Given the description of an element on the screen output the (x, y) to click on. 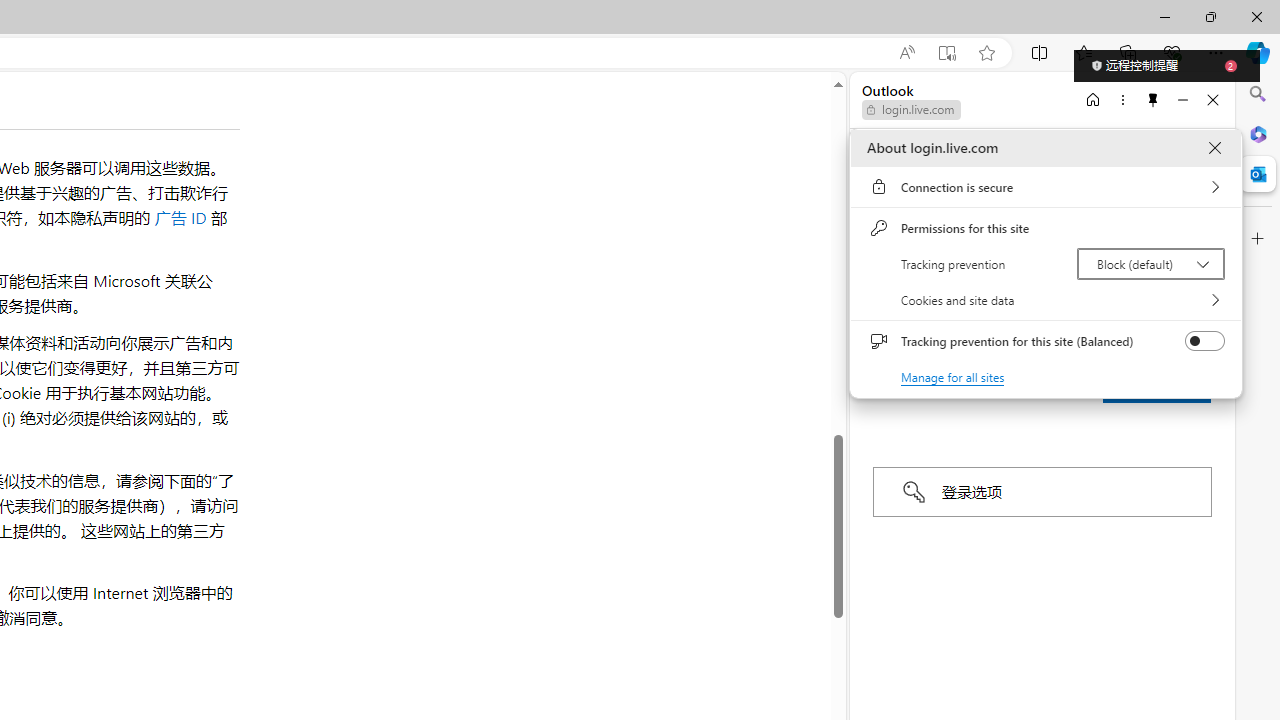
Tracking prevention for this site (Balanced) (1204, 341)
About login.live.com (1214, 147)
Connection is secure (1046, 187)
Cookies and site data (1046, 300)
Manage for all sites (952, 376)
Permissions for this site (1046, 228)
Tracking prevention Block (default) (1150, 263)
